Given the description of an element on the screen output the (x, y) to click on. 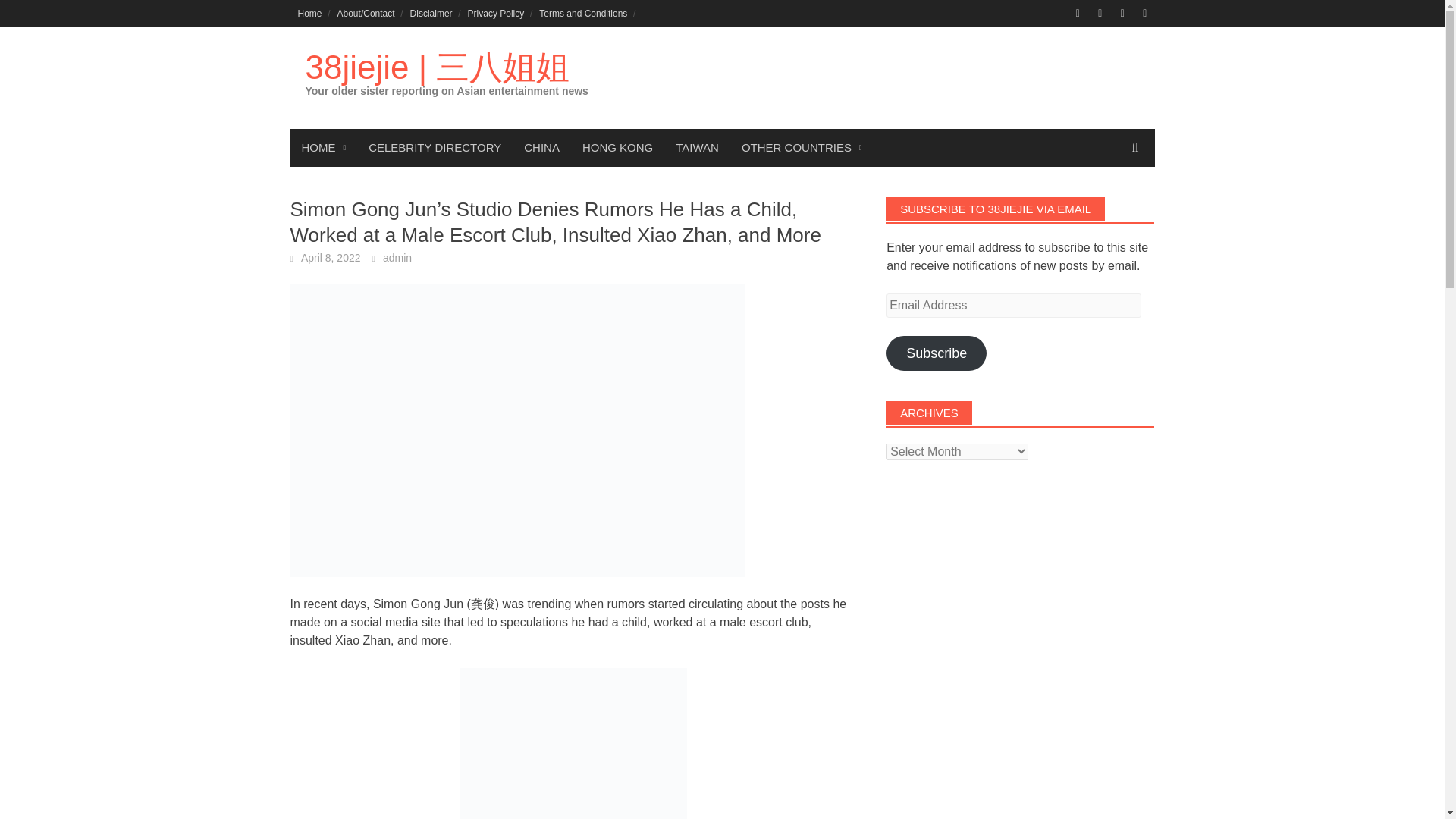
Home (309, 13)
admin (397, 257)
April 8, 2022 (331, 257)
HOME (322, 147)
Privacy Policy (496, 13)
OTHER COUNTRIES (801, 147)
Terms and Conditions (582, 13)
CHINA (541, 147)
HONG KONG (616, 147)
Disclaimer (431, 13)
CELEBRITY DIRECTORY (434, 147)
TAIWAN (696, 147)
